Given the description of an element on the screen output the (x, y) to click on. 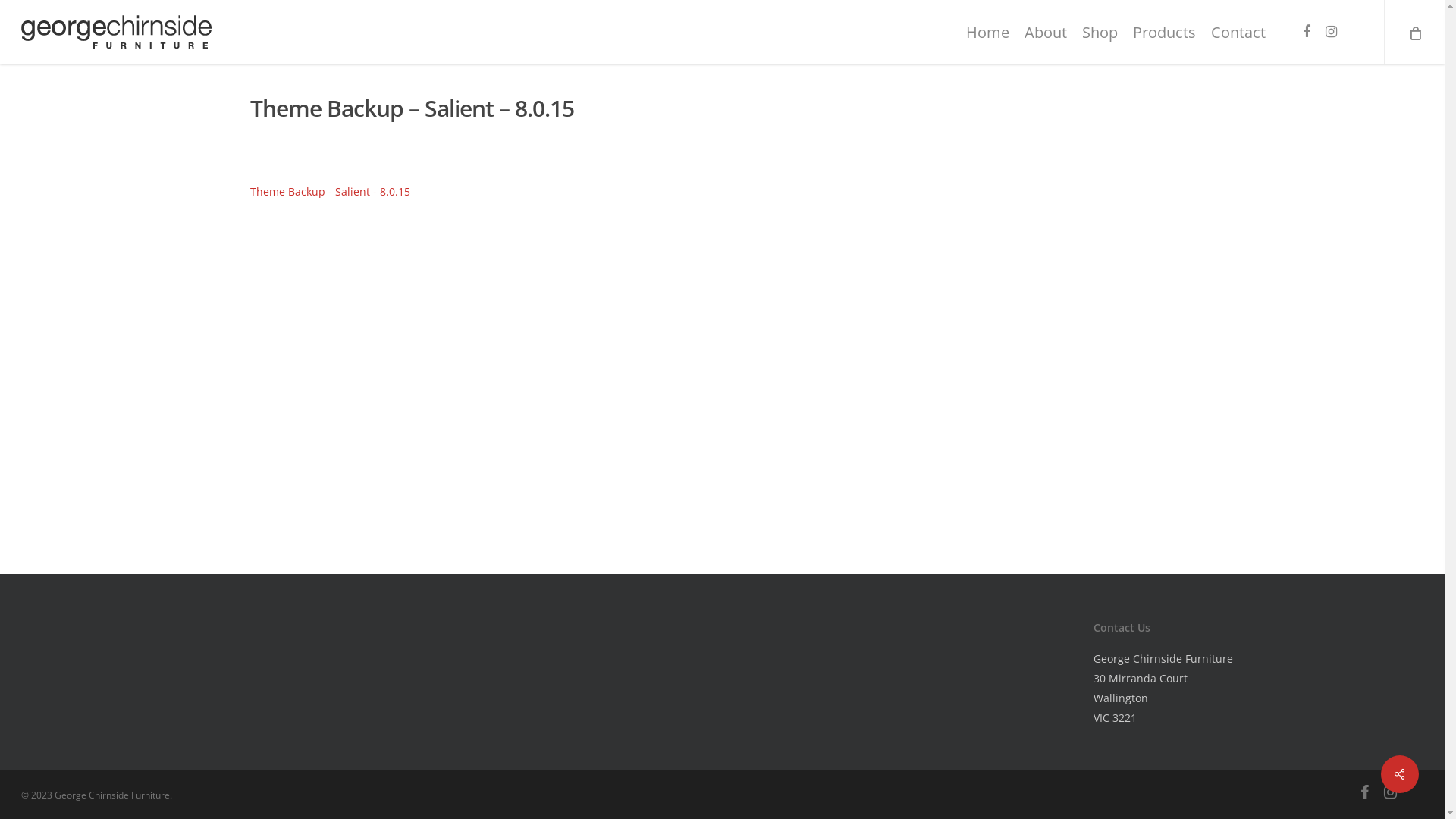
facebook Element type: text (1306, 31)
instagram Element type: text (1389, 793)
facebook Element type: text (1364, 793)
Products Element type: text (1163, 31)
Home Element type: text (987, 31)
Contact Element type: text (1238, 31)
Shop Element type: text (1099, 31)
About Element type: text (1045, 31)
instagram Element type: text (1330, 31)
Theme Backup - Salient - 8.0.15 Element type: text (330, 191)
